Given the description of an element on the screen output the (x, y) to click on. 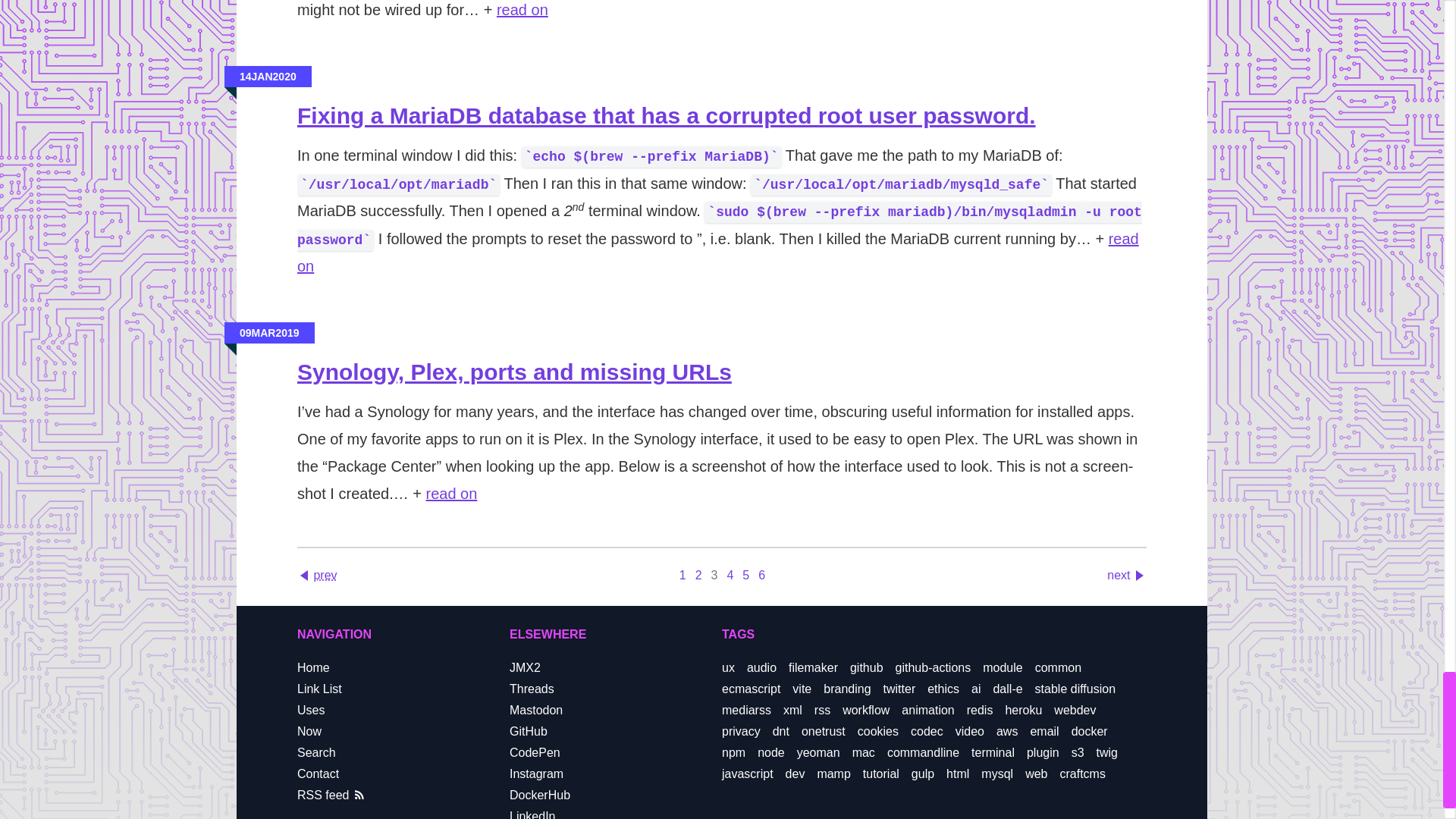
Installing Imagick in Valet (522, 9)
